Given the description of an element on the screen output the (x, y) to click on. 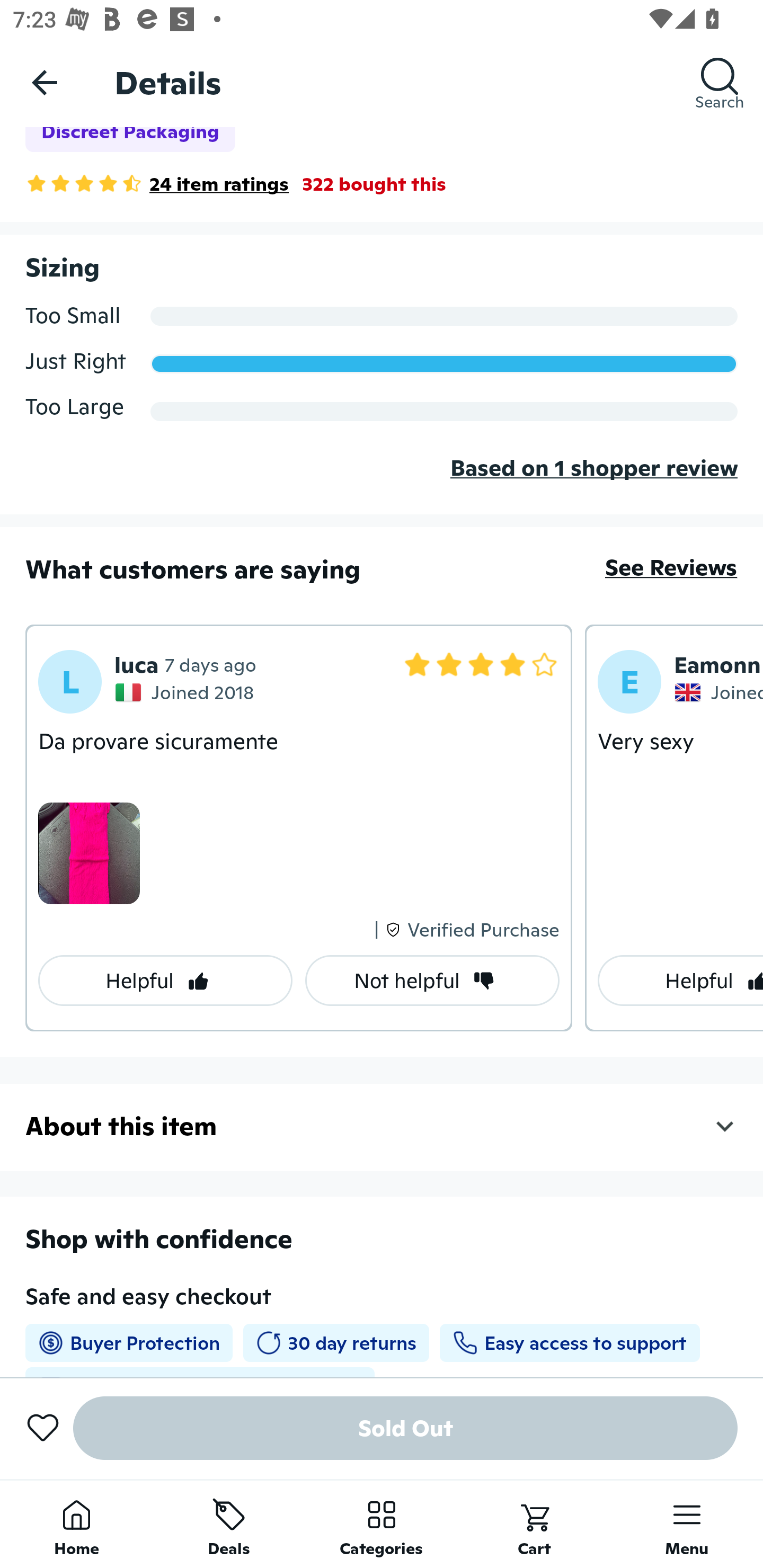
Navigate up (44, 82)
Search (719, 82)
Discreet Packaging (130, 139)
4.2 Star Rating 24 item ratings (157, 183)
Based on 1 shopper review (381, 482)
See Reviews (671, 566)
E Eamonn Joined 2021  Very sexy  Helpful (674, 827)
L (69, 681)
luca (136, 664)
E (629, 681)
Eamonn (716, 664)
Joined 2018  (186, 691)
Joined 2021  (718, 691)
Helpful (165, 980)
Not helpful (432, 980)
Helpful (680, 980)
About this item (381, 1125)
Buyer Protection (128, 1342)
30 day returns (335, 1342)
Easy access to support (569, 1342)
Sold Out (405, 1428)
Home (76, 1523)
Deals (228, 1523)
Categories (381, 1523)
Cart (533, 1523)
Menu (686, 1523)
